Given the description of an element on the screen output the (x, y) to click on. 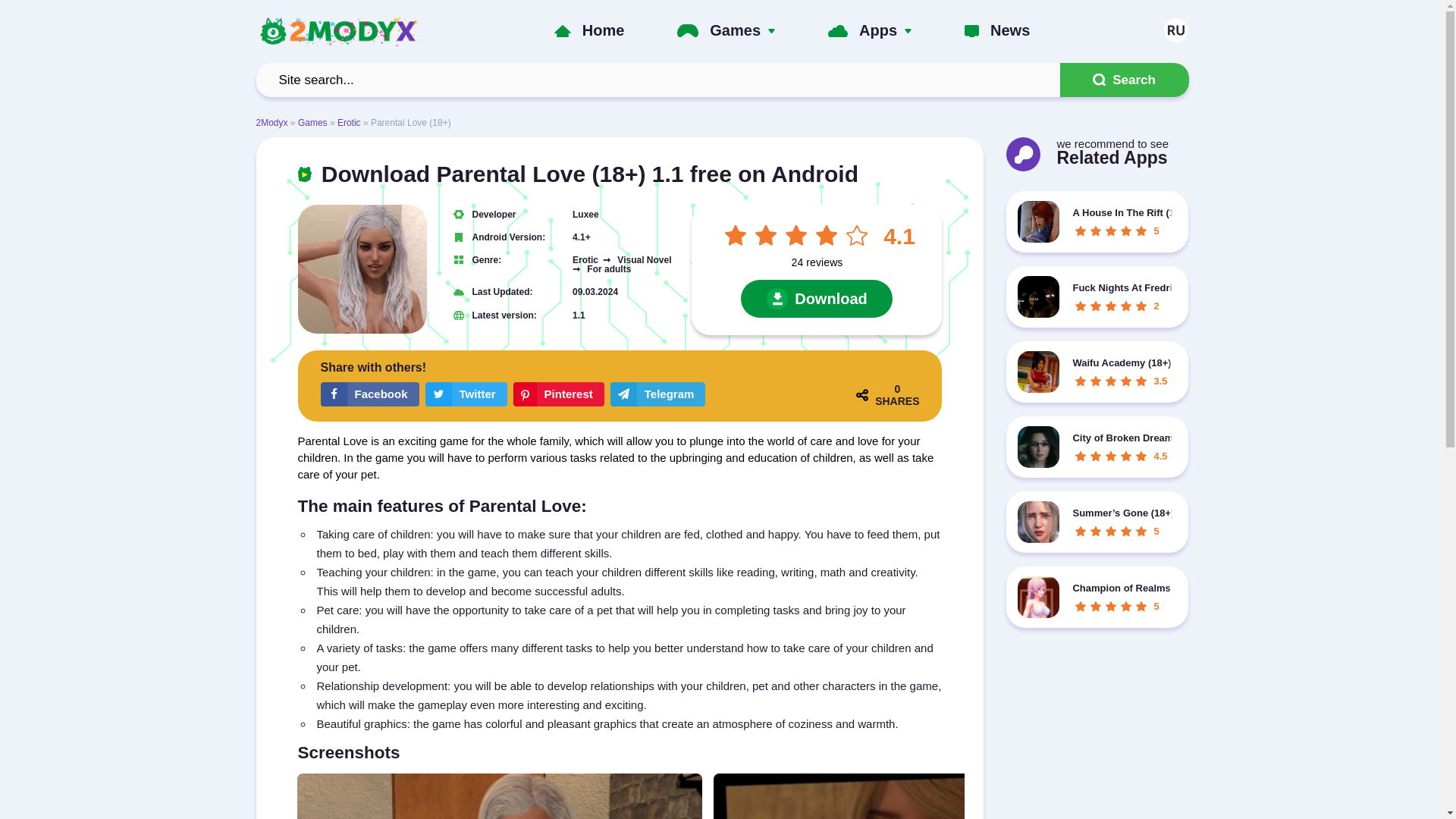
1 (735, 235)
Erotic (349, 122)
Games (312, 122)
News (1009, 30)
2Modyx (272, 122)
Fair (795, 235)
Poor (765, 235)
Home (603, 30)
Apps (877, 30)
Good (825, 235)
Excellent (856, 235)
Search (1124, 80)
Games (735, 30)
Useless (735, 235)
2 (765, 235)
